Given the description of an element on the screen output the (x, y) to click on. 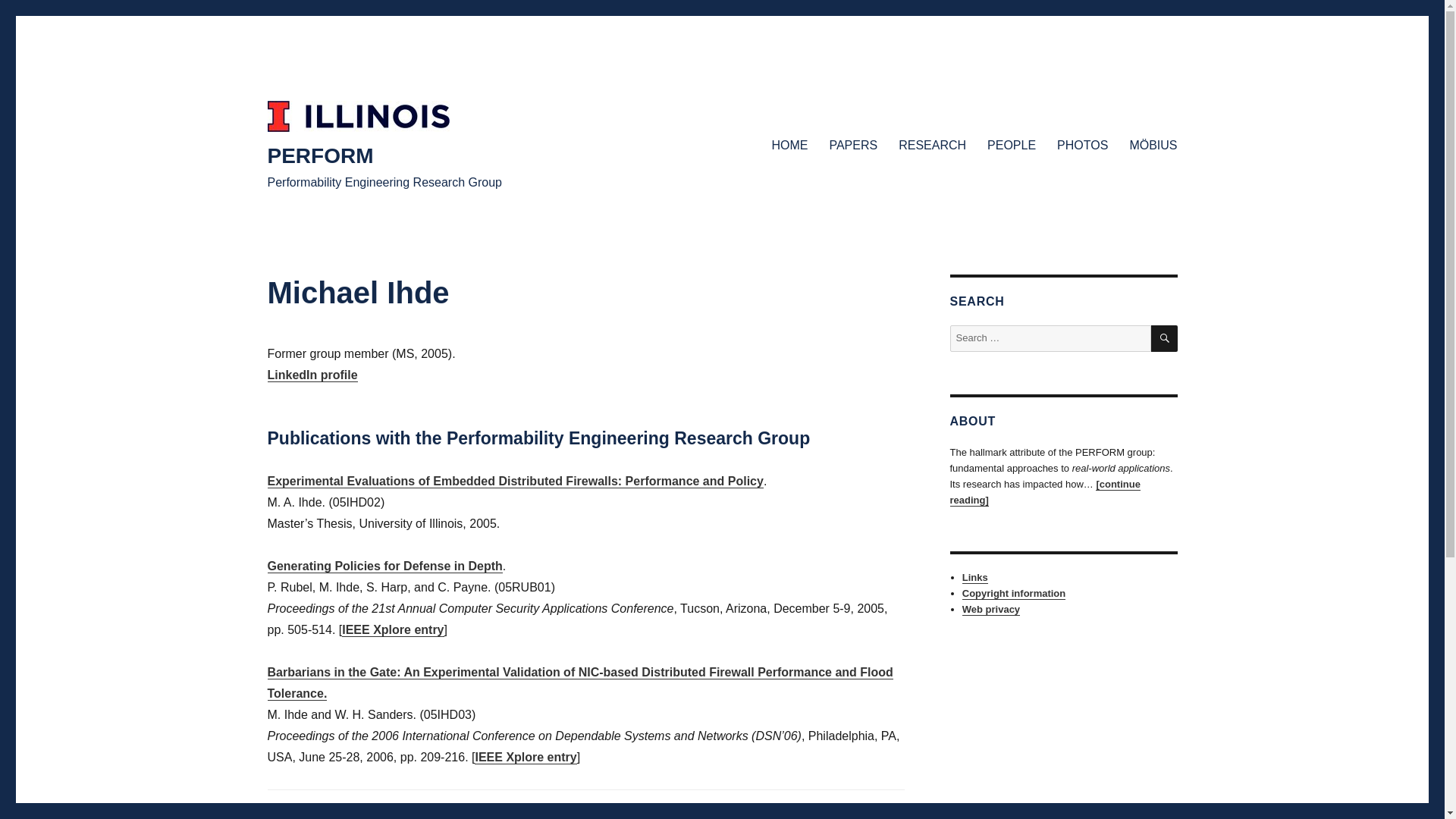
PHOTOS (1082, 144)
Copyright information (1013, 593)
HOME (789, 144)
RESEARCH (932, 144)
SEARCH (1164, 338)
PEOPLE (1011, 144)
Web privacy (991, 609)
IEEE Xplore entry (525, 757)
PAPERS (853, 144)
